Given the description of an element on the screen output the (x, y) to click on. 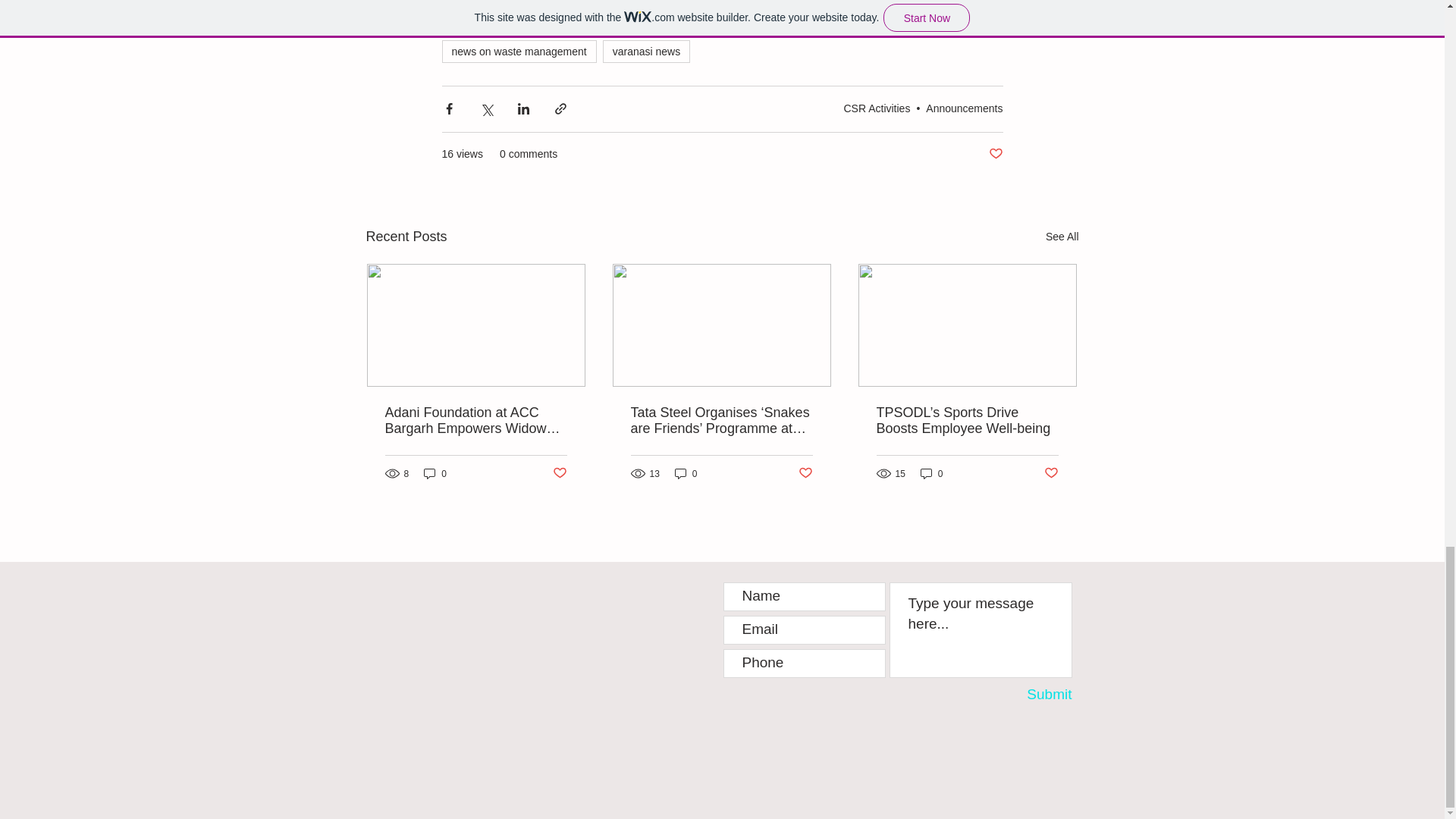
industry news (483, 2)
technology news (490, 22)
international news (584, 2)
CSR Activities (876, 108)
Announcements (964, 108)
factory news (683, 2)
news on waste management (518, 51)
varanasi news (646, 51)
NTPC to set up solid waste management plant in Varanasi (767, 22)
ntpc news (580, 22)
